Given the description of an element on the screen output the (x, y) to click on. 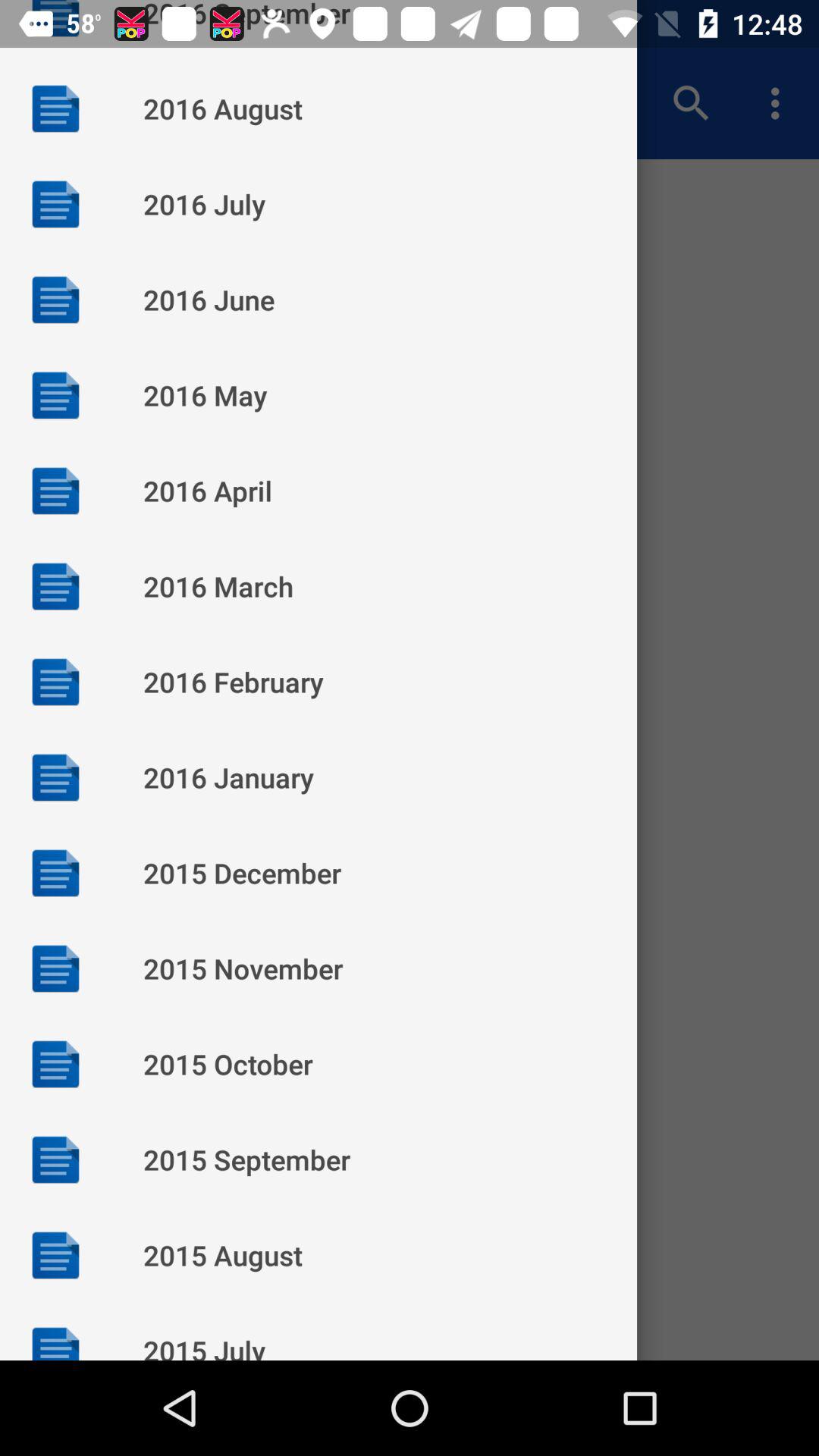
go to first option icon (55, 108)
click  document below 2016 april (55, 585)
